Given the description of an element on the screen output the (x, y) to click on. 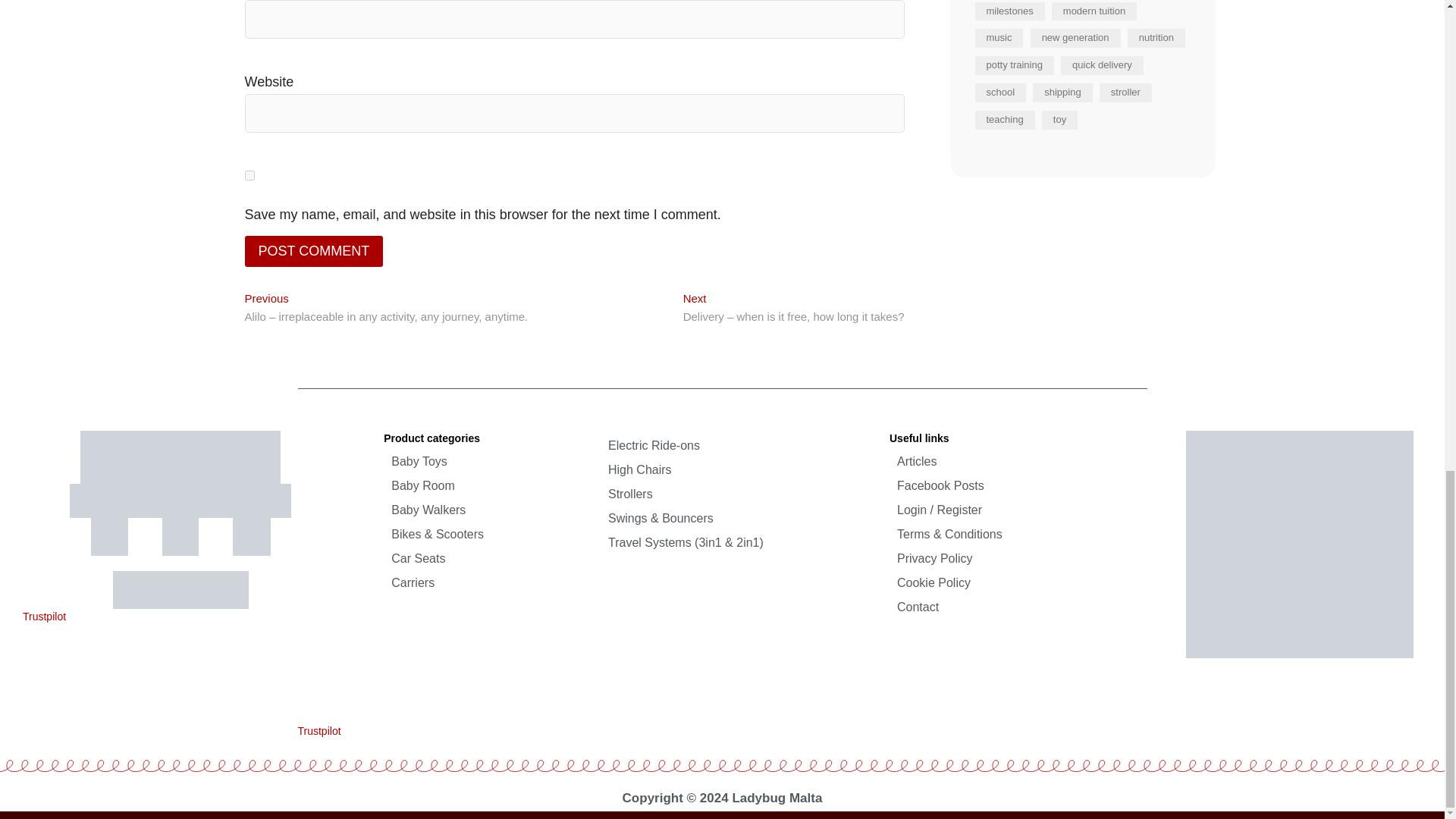
yes (248, 175)
Post Comment (313, 250)
Post Comment (313, 250)
